Given the description of an element on the screen output the (x, y) to click on. 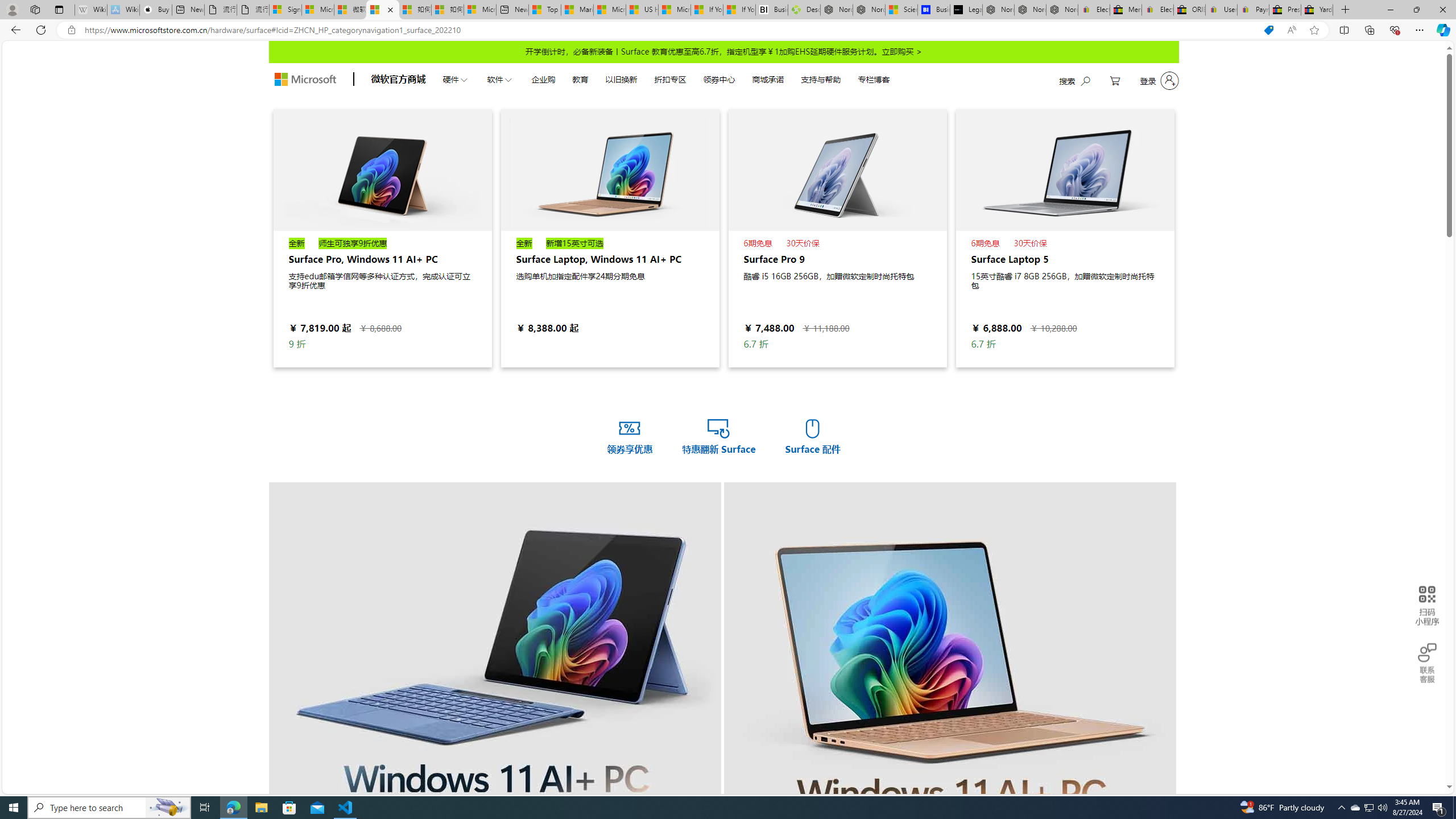
Payments Terms of Use | eBay.com (1252, 9)
Electronics, Cars, Fashion, Collectibles & More | eBay (1157, 9)
Surface Pro 9 (837, 237)
Surface Laptop 5 (1064, 169)
View site information (70, 29)
